Given the description of an element on the screen output the (x, y) to click on. 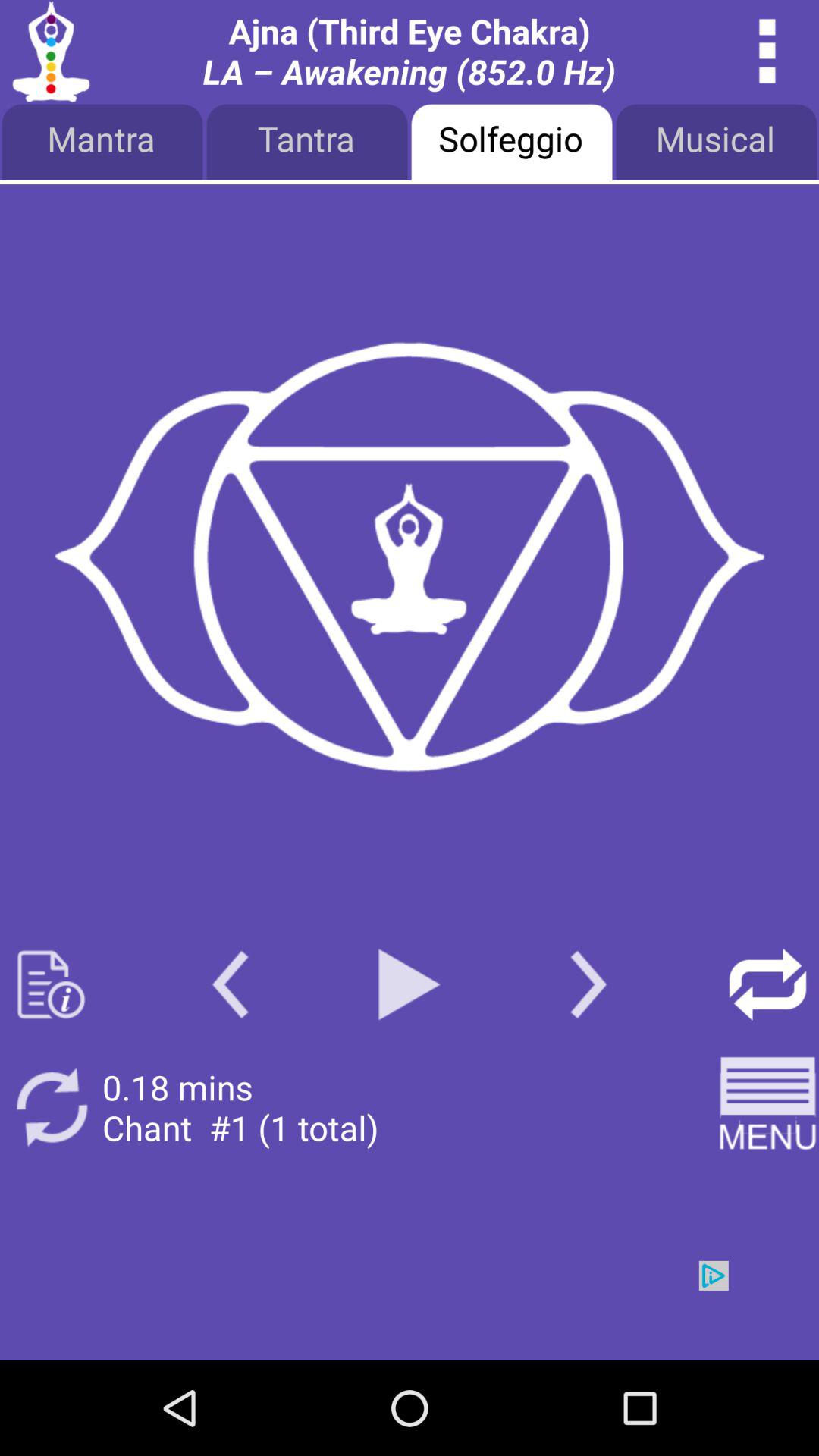
repeat (51, 1107)
